Given the description of an element on the screen output the (x, y) to click on. 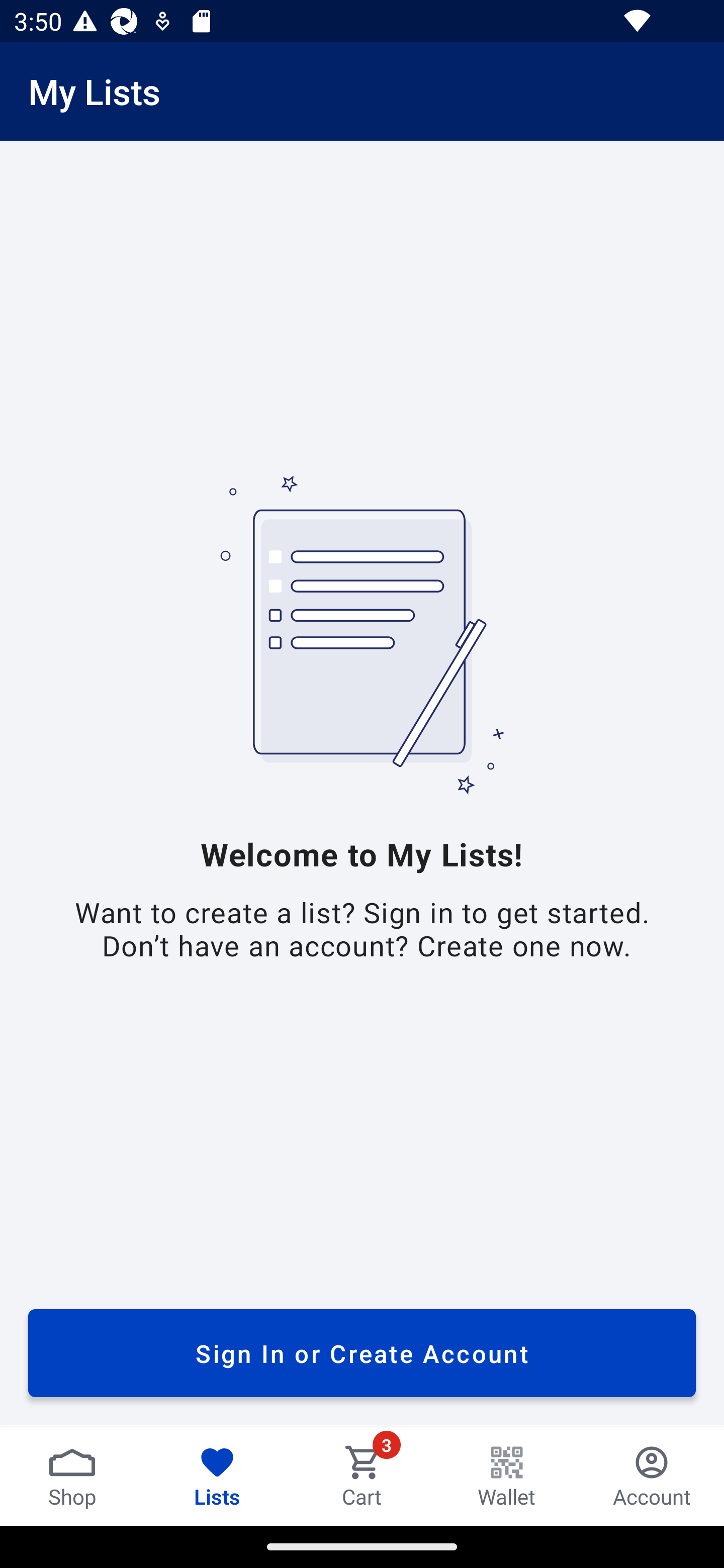
Sign In or Create Account (361, 1353)
Shop (72, 1475)
Cart Cart 3 (361, 1475)
Wallet (506, 1475)
Account (651, 1475)
